Given the description of an element on the screen output the (x, y) to click on. 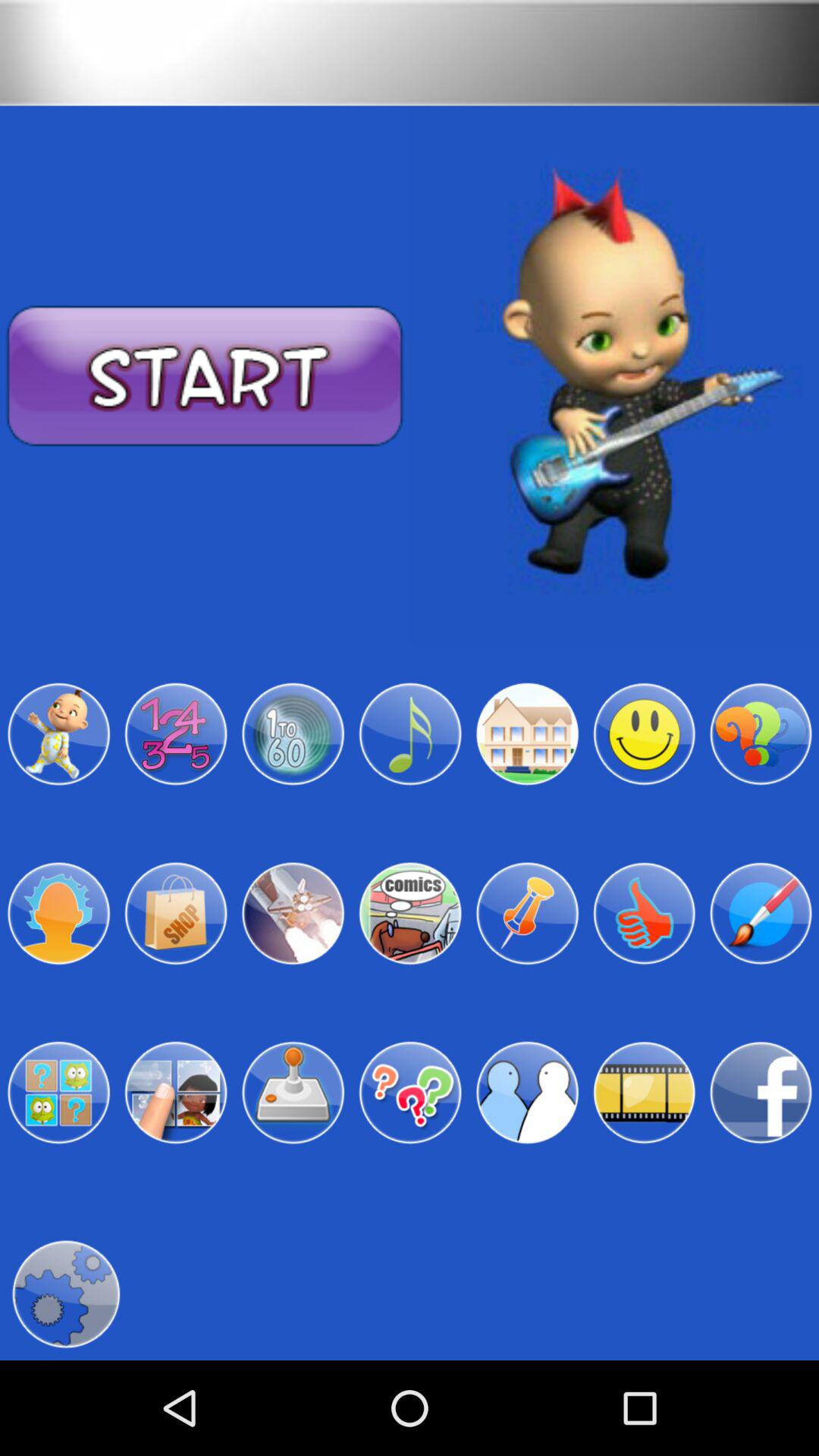
select character design (58, 734)
